Given the description of an element on the screen output the (x, y) to click on. 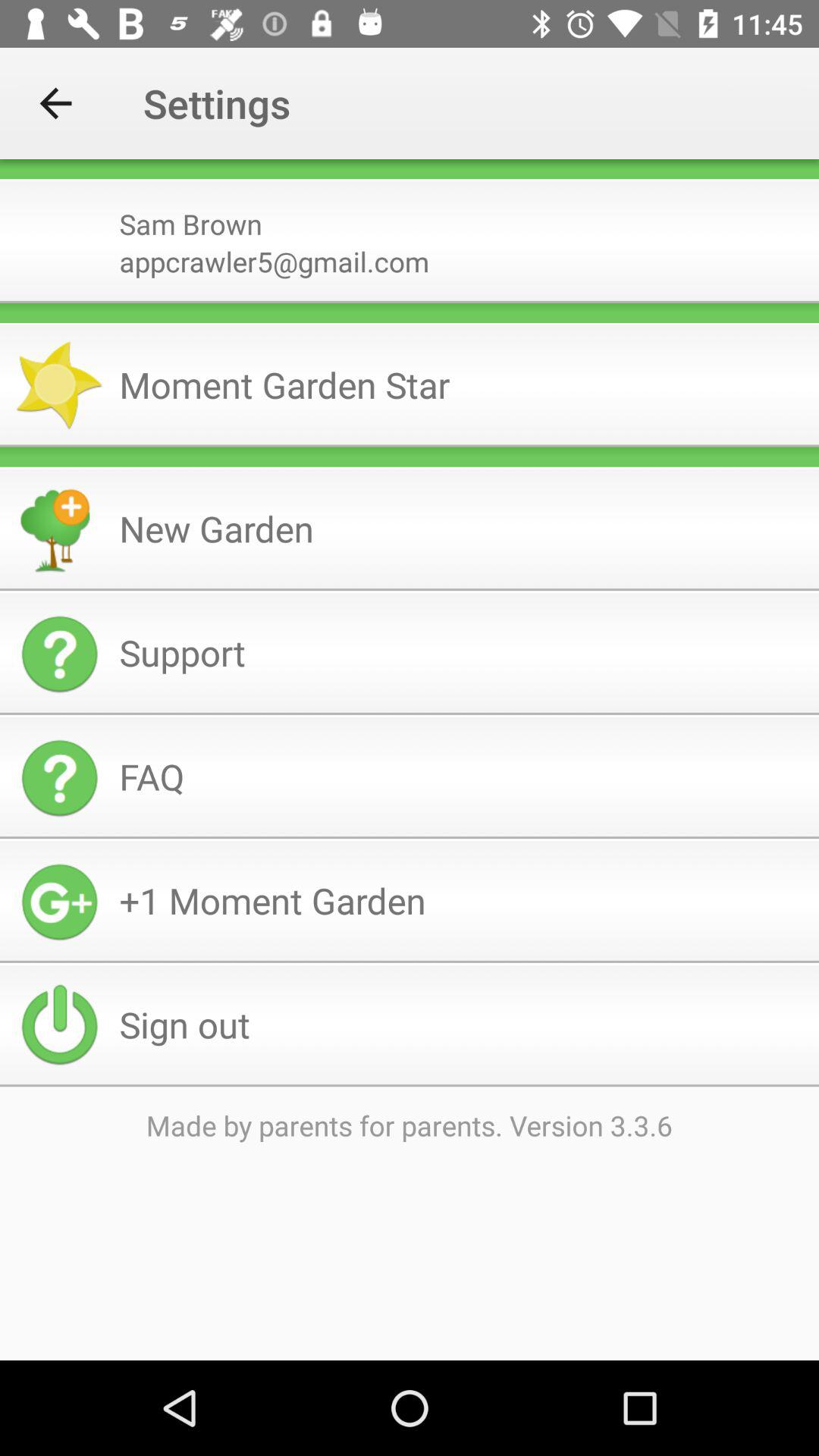
select the icon below (409, 180)
